Given the description of an element on the screen output the (x, y) to click on. 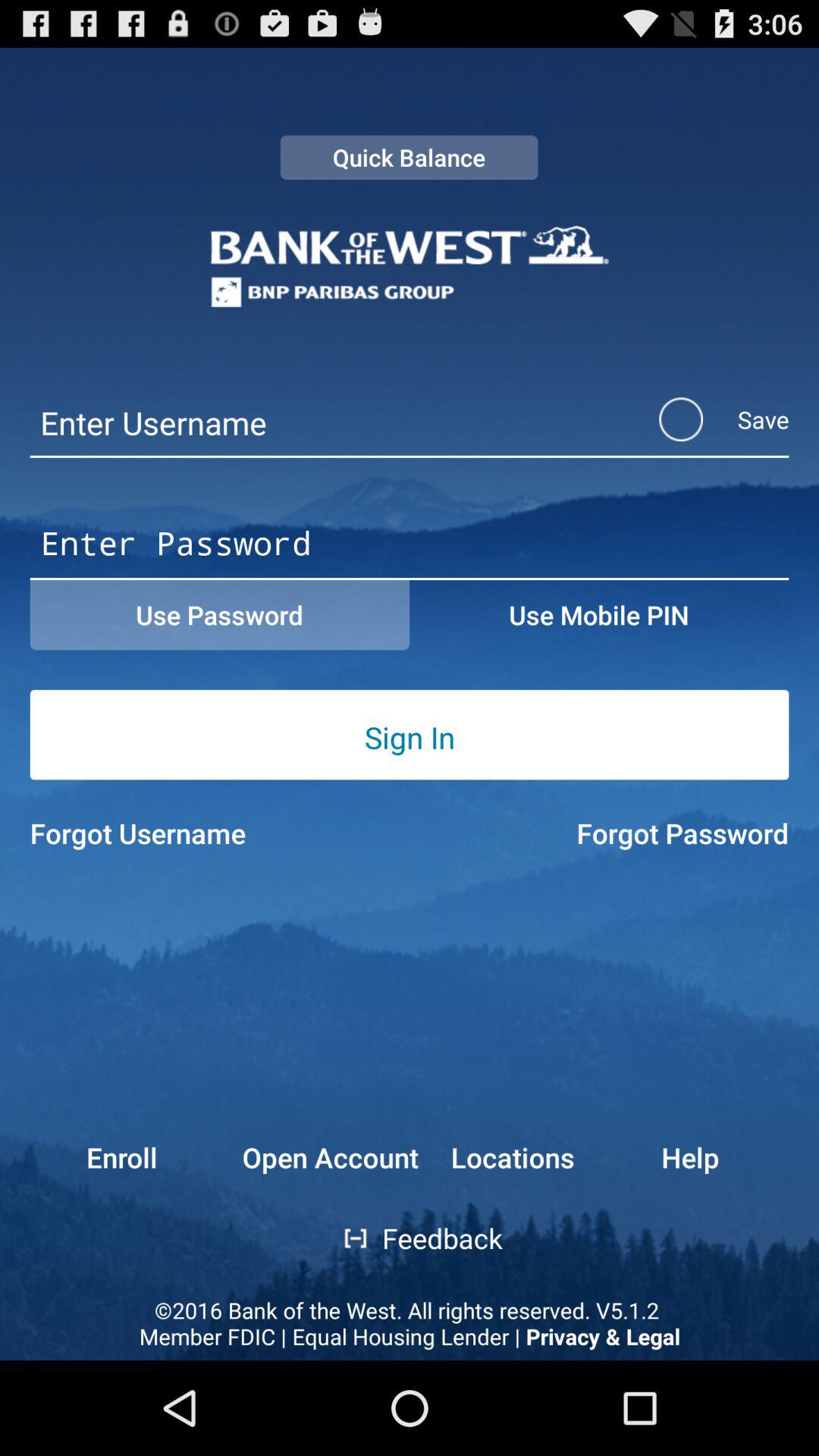
choose icon next to enroll item (330, 1157)
